Given the description of an element on the screen output the (x, y) to click on. 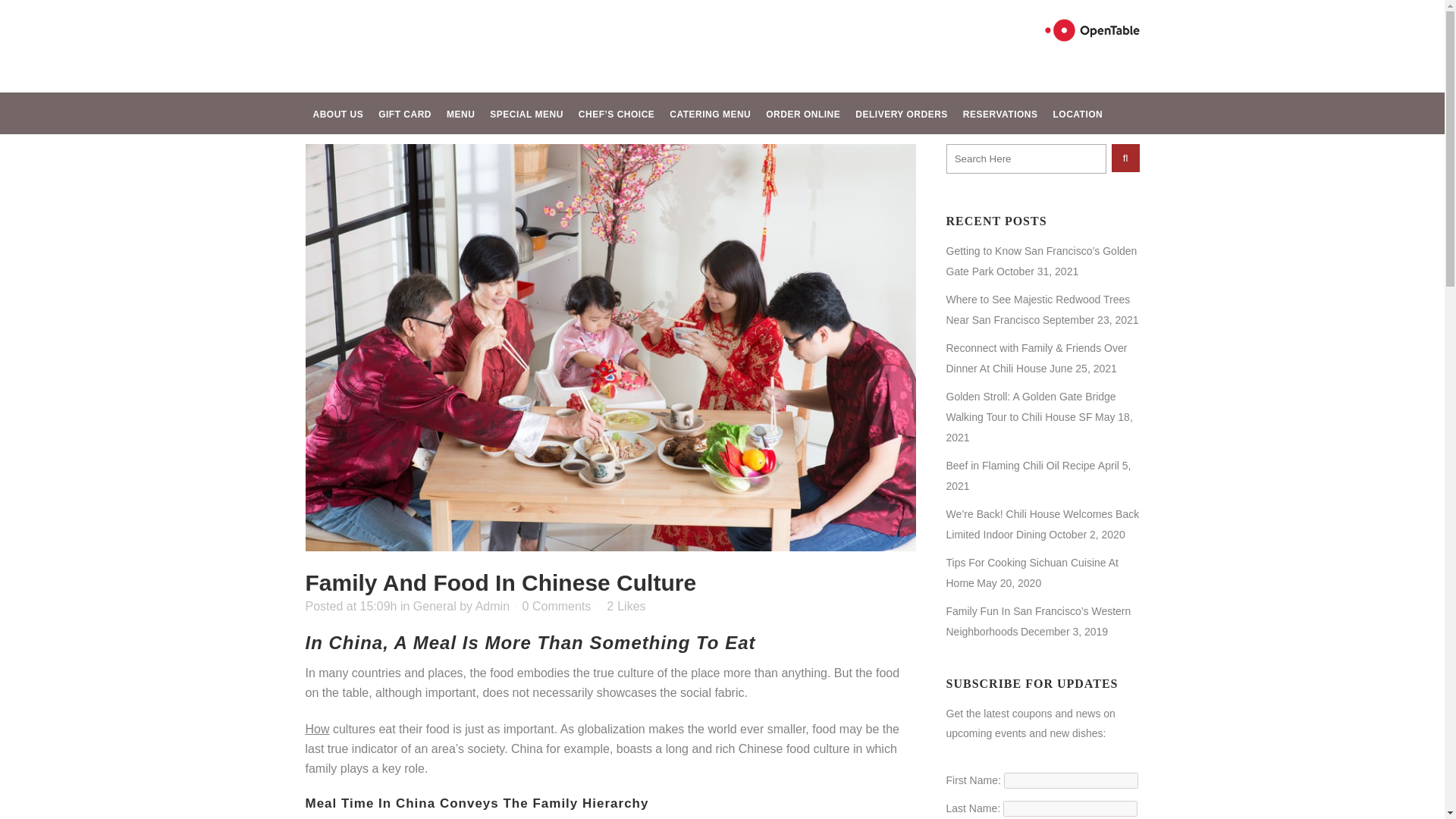
DELIVERY ORDERS (901, 114)
ABOUT US (337, 114)
ORDER ONLINE (802, 114)
0 Comments (556, 605)
LOCATION (1077, 114)
RESERVATIONS (1000, 114)
CATERING MENU (710, 114)
Admin (492, 605)
Like this (626, 606)
SPECIAL MENU (525, 114)
